Given the description of an element on the screen output the (x, y) to click on. 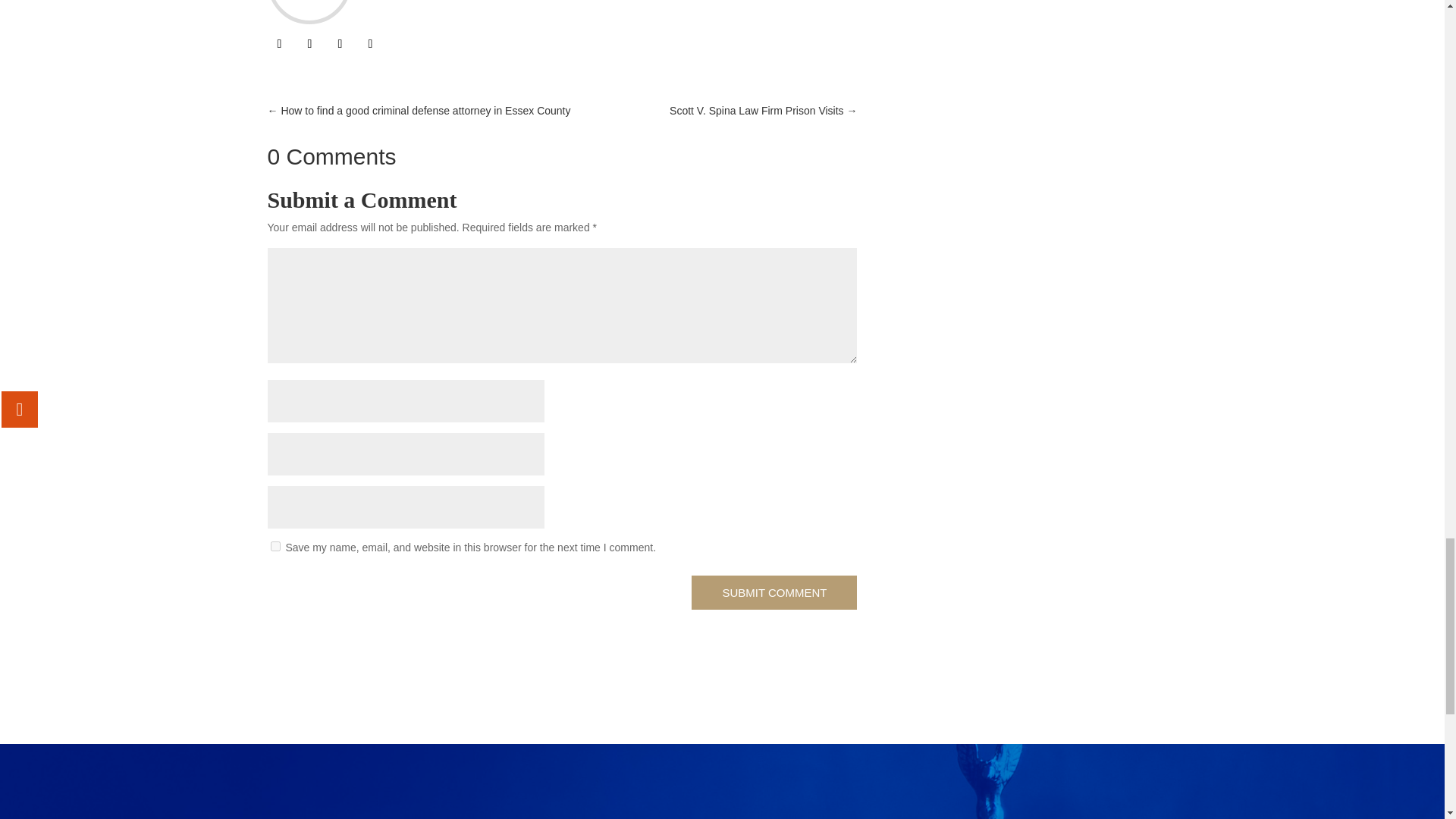
Follow on LinkedIn (339, 43)
yes (274, 546)
Follow on Twitter (309, 43)
Follow on Facebook (278, 43)
Follow on Instagram (369, 43)
